Given the description of an element on the screen output the (x, y) to click on. 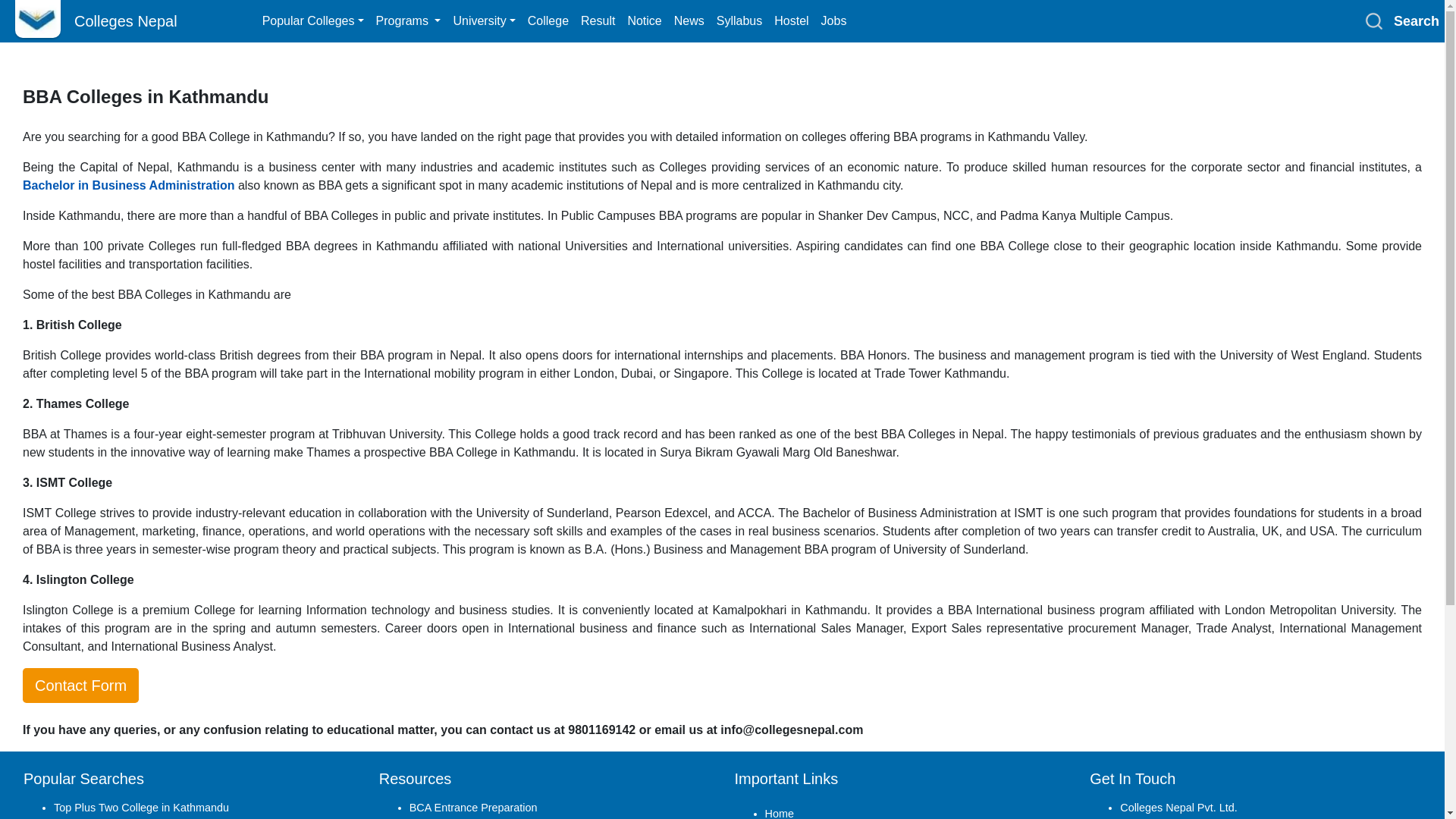
Popular Colleges (312, 20)
Colleges Nepal (106, 20)
